Given the description of an element on the screen output the (x, y) to click on. 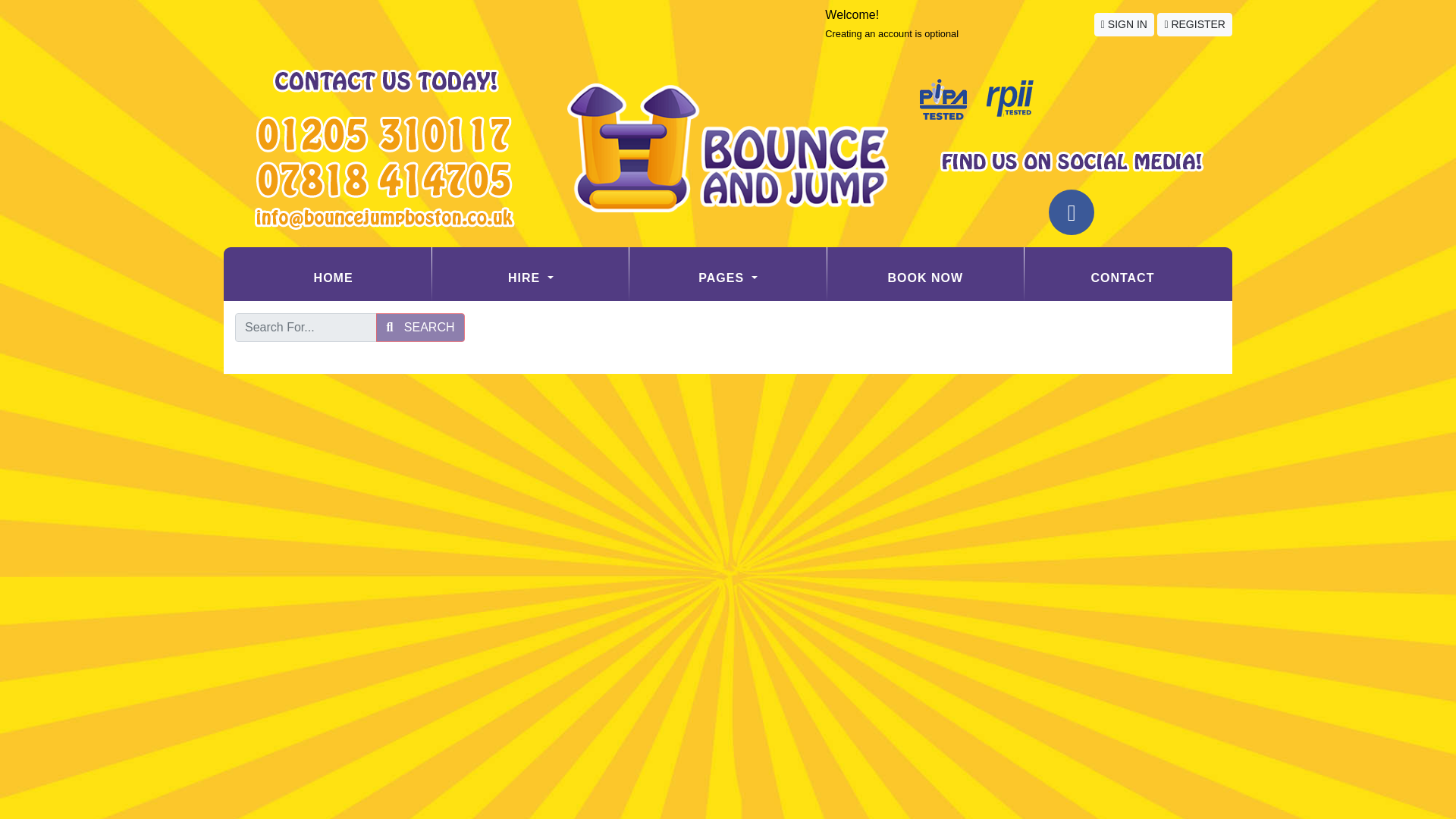
REGISTER (1194, 24)
CONTACT (1123, 277)
PIPA Tested (943, 100)
Call us today! (384, 180)
PAGES (726, 277)
Bounce and Jump (727, 147)
SIGN IN (1124, 24)
Send us an email! (384, 218)
BOOK NOW (925, 277)
SEARCH (419, 327)
